Given the description of an element on the screen output the (x, y) to click on. 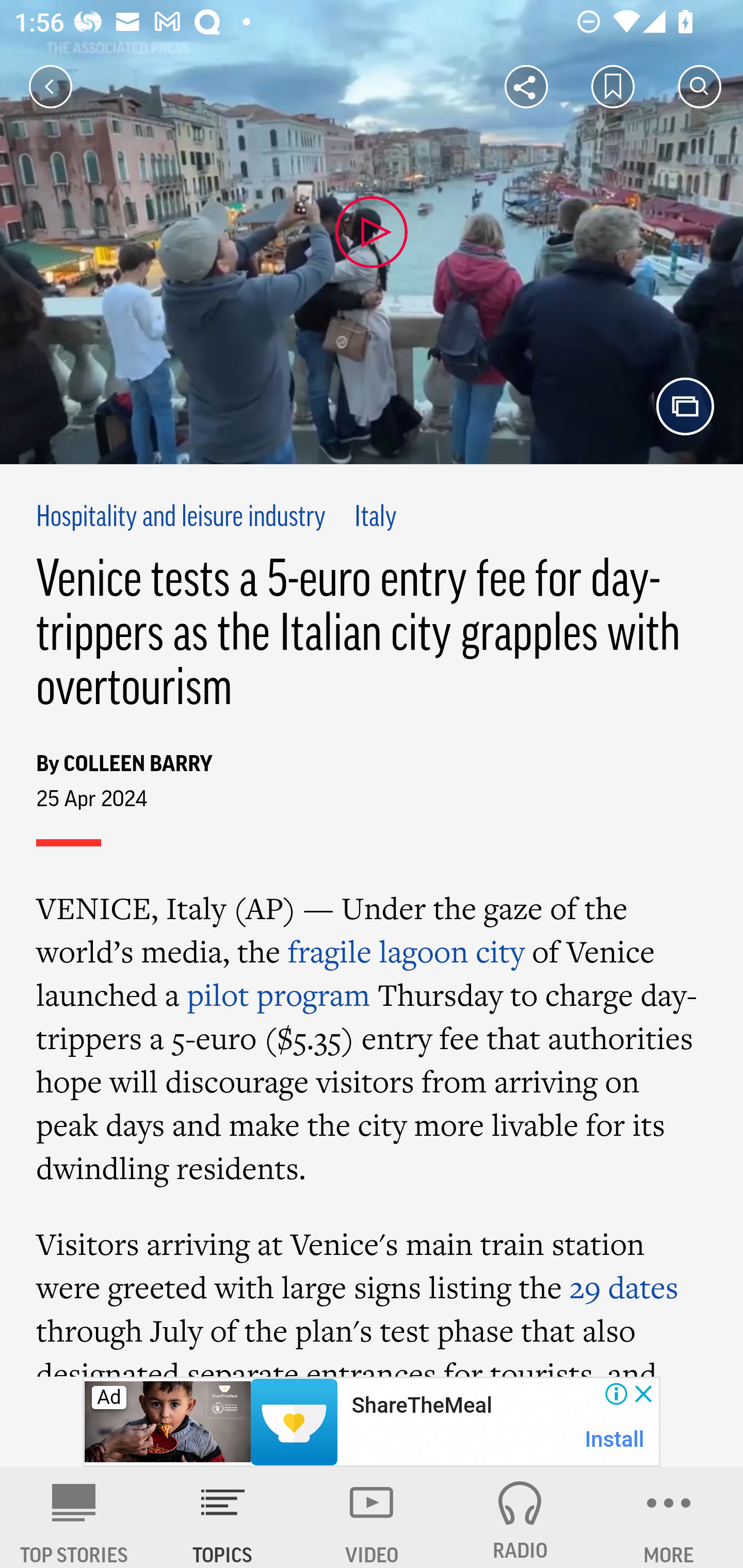
Hospitality and leisure industry (181, 518)
Italy (375, 518)
fragile lagoon city (405, 951)
pilot program (278, 994)
29 dates (623, 1287)
ShareTheMeal (420, 1405)
Install (614, 1438)
AP News TOP STORIES (74, 1517)
TOPICS (222, 1517)
VIDEO (371, 1517)
RADIO (519, 1517)
MORE (668, 1517)
